Given the description of an element on the screen output the (x, y) to click on. 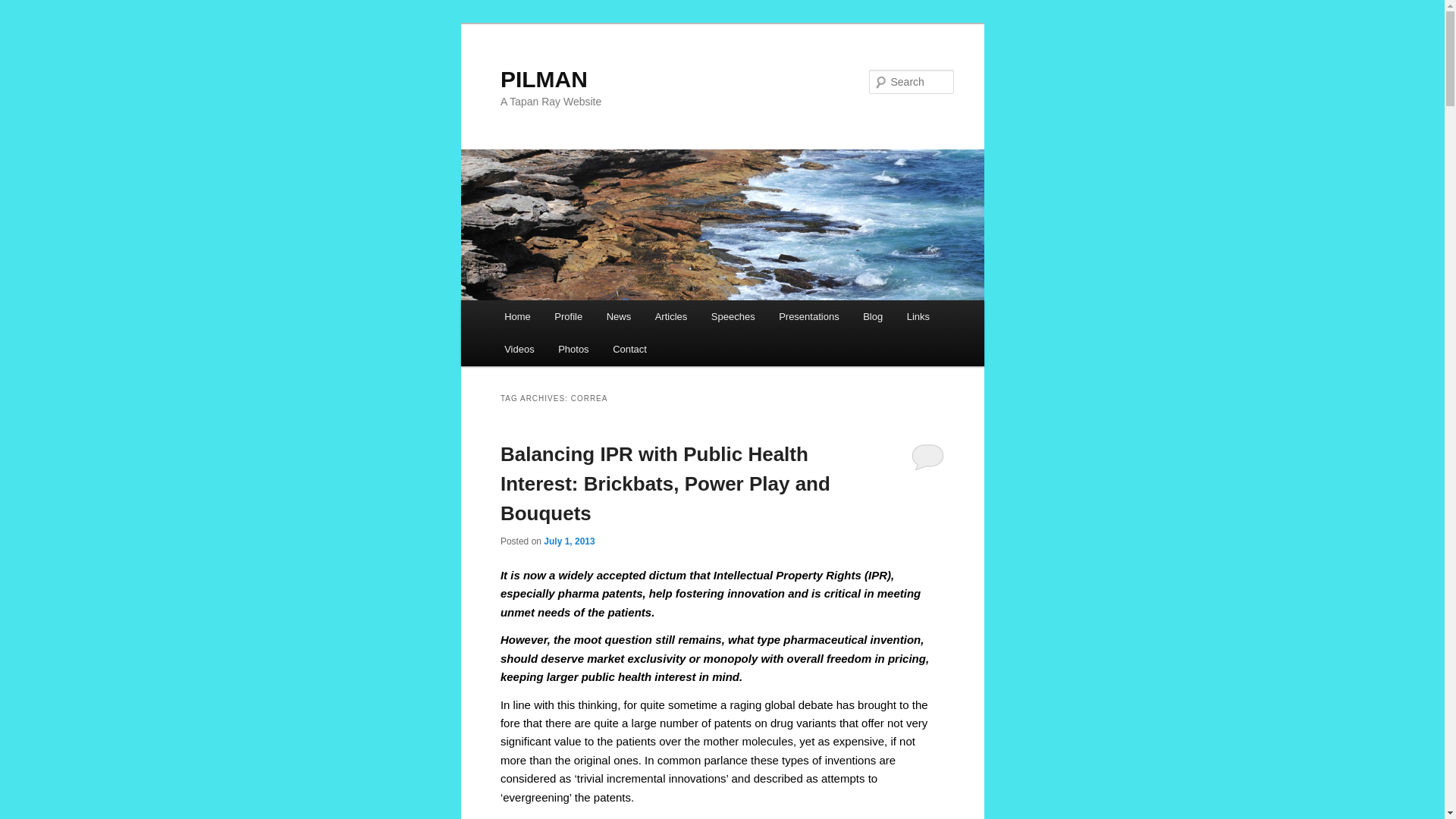
PILMAN (544, 78)
Home (516, 316)
July 1, 2013 (568, 541)
Links (918, 316)
News (618, 316)
Search (24, 8)
Presentations (808, 316)
Speeches (732, 316)
Skip to primary content (572, 319)
Profile (568, 316)
